Given the description of an element on the screen output the (x, y) to click on. 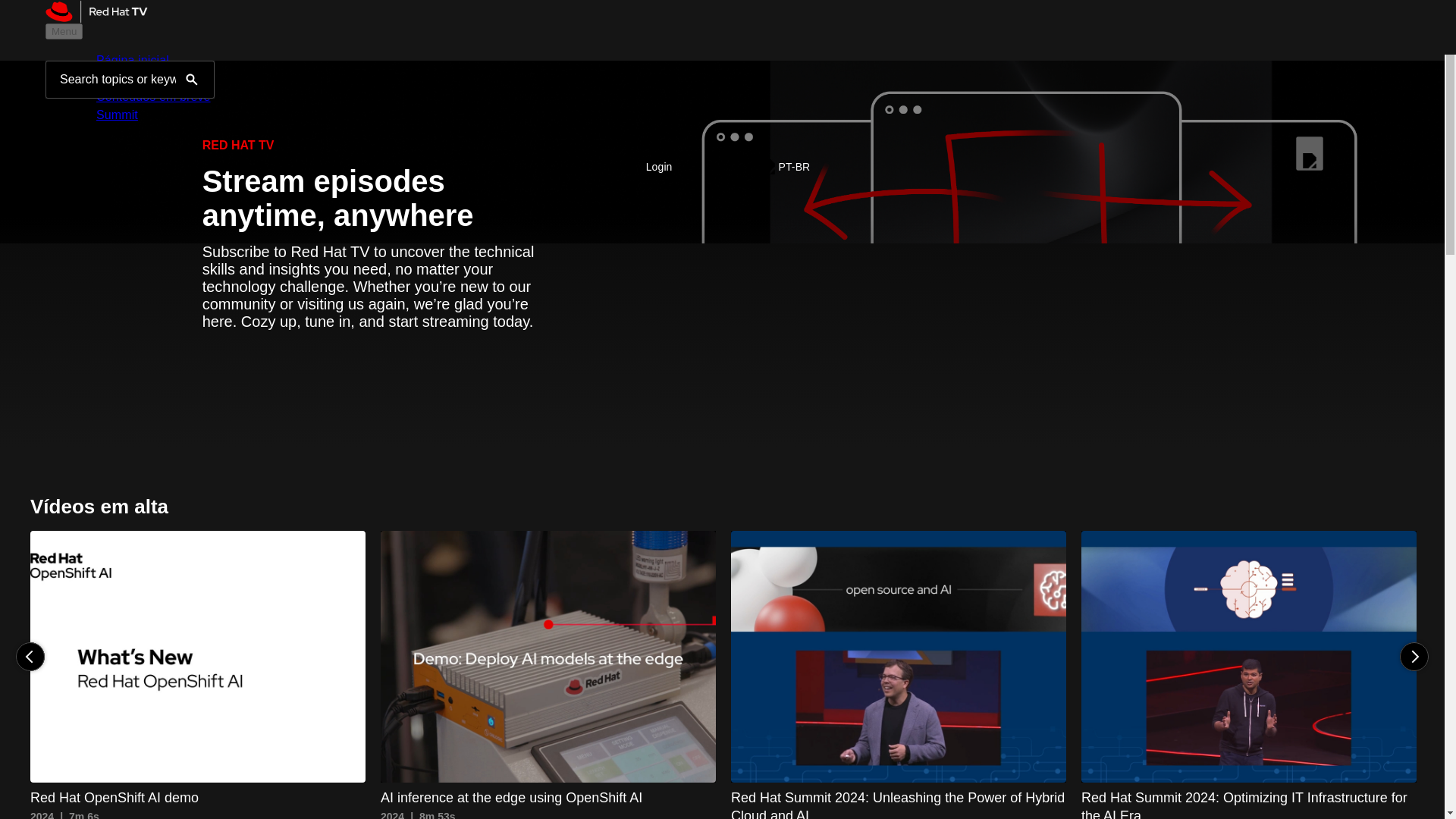
Stream episodes anytime, anywhere (548, 674)
Search (372, 197)
PT-BR (191, 79)
